Given the description of an element on the screen output the (x, y) to click on. 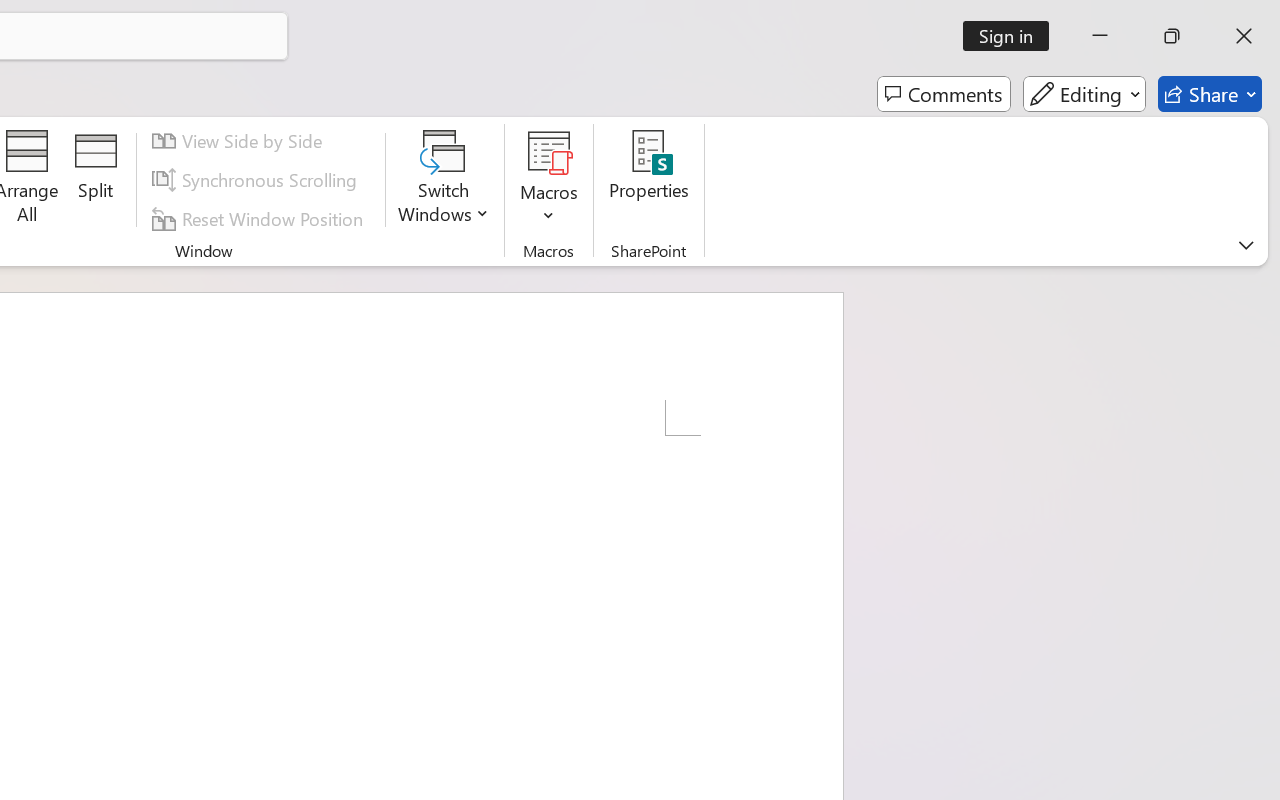
Properties (648, 179)
Sign in (1012, 35)
Switch Windows (443, 179)
View Side by Side (240, 141)
Synchronous Scrolling (257, 179)
Reset Window Position (260, 218)
View Macros (549, 151)
Split (95, 179)
